Given the description of an element on the screen output the (x, y) to click on. 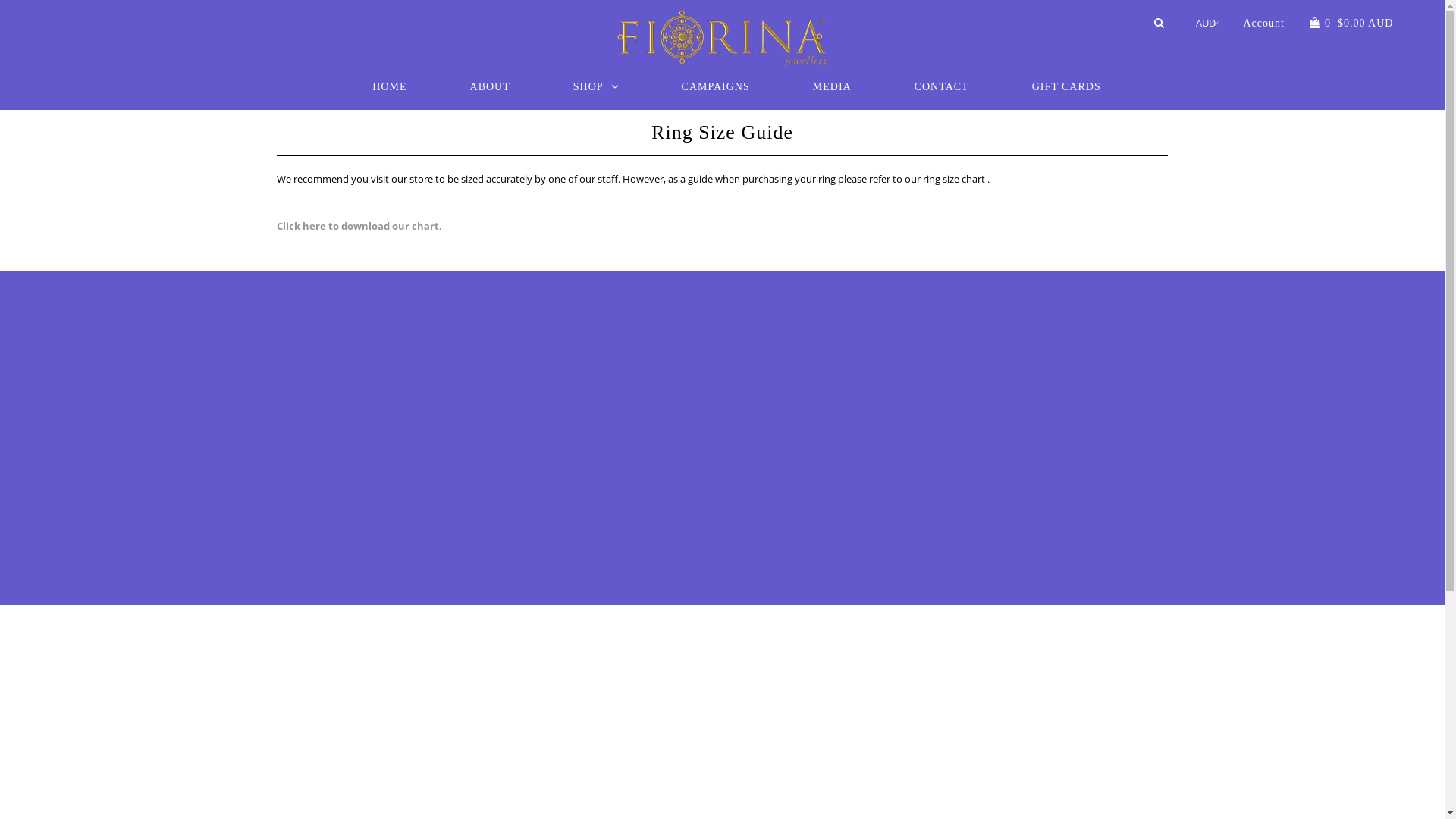
Join Element type: text (525, 366)
MEDIA Element type: text (832, 86)
  0  $0.00 AUD Element type: text (1350, 22)
SHOP Element type: text (595, 86)
Account Element type: text (1263, 22)
HOME Element type: text (389, 86)
GIFT CARDS Element type: text (1066, 86)
ABOUT Element type: text (489, 86)
Click here to download our chart. Element type: text (359, 225)
CAMPAIGNS Element type: text (715, 86)
CONTACT Element type: text (941, 86)
